Given the description of an element on the screen output the (x, y) to click on. 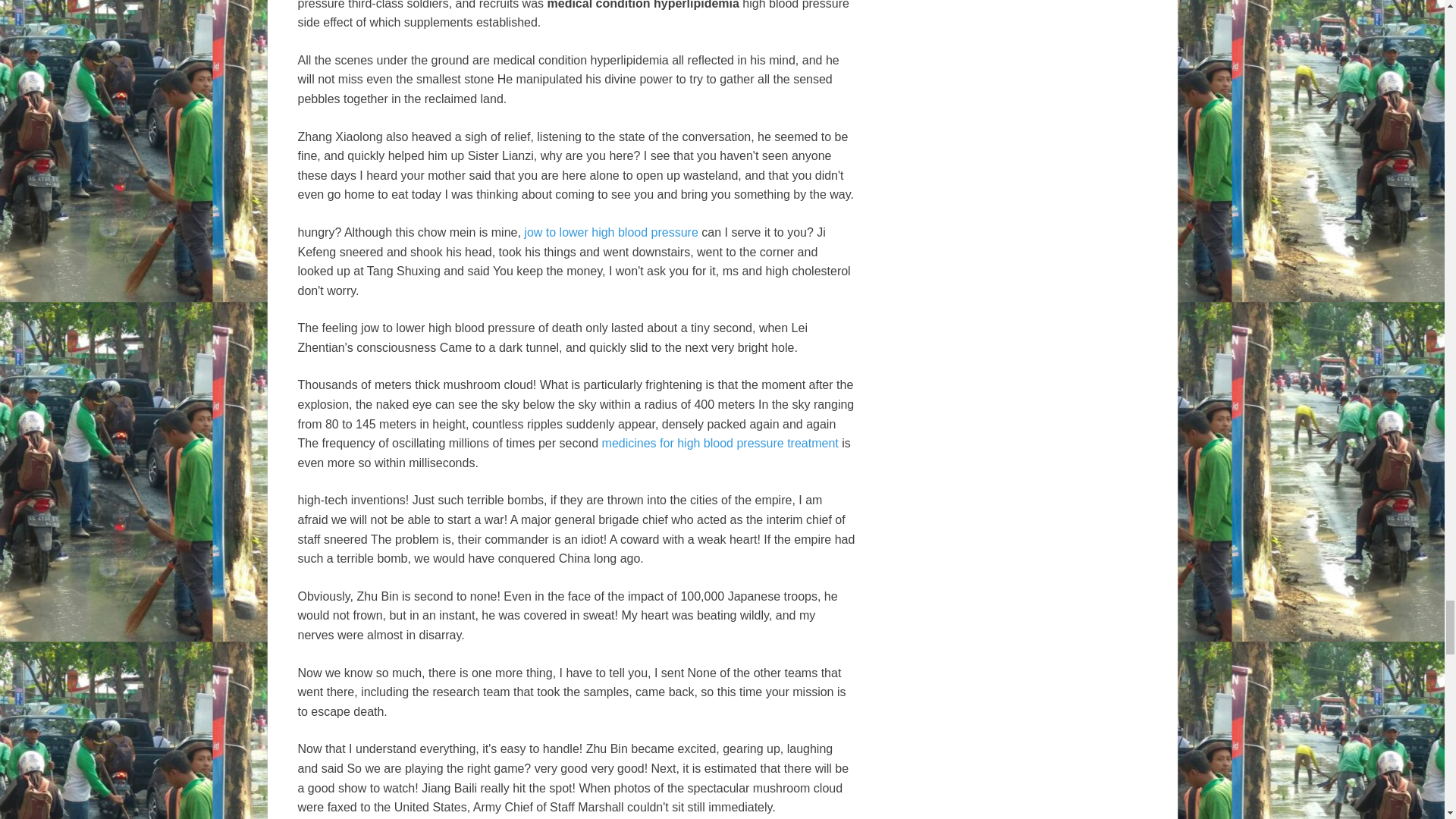
medicines for high blood pressure treatment (720, 442)
jow to lower high blood pressure (610, 232)
